Given the description of an element on the screen output the (x, y) to click on. 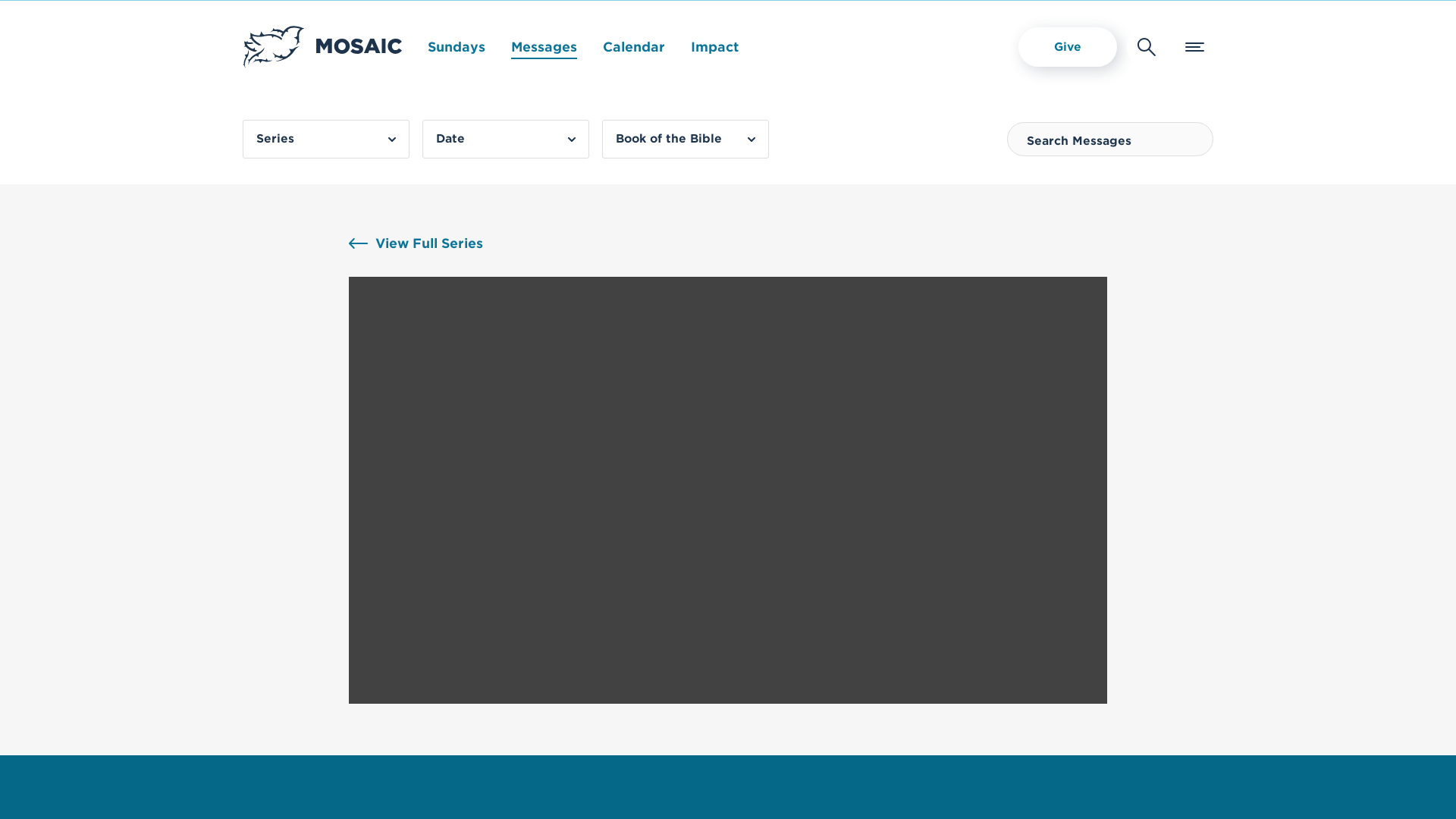
Impact (714, 46)
Give (1066, 46)
Calendar (633, 46)
Sundays (456, 46)
Messages (543, 46)
